Given the description of an element on the screen output the (x, y) to click on. 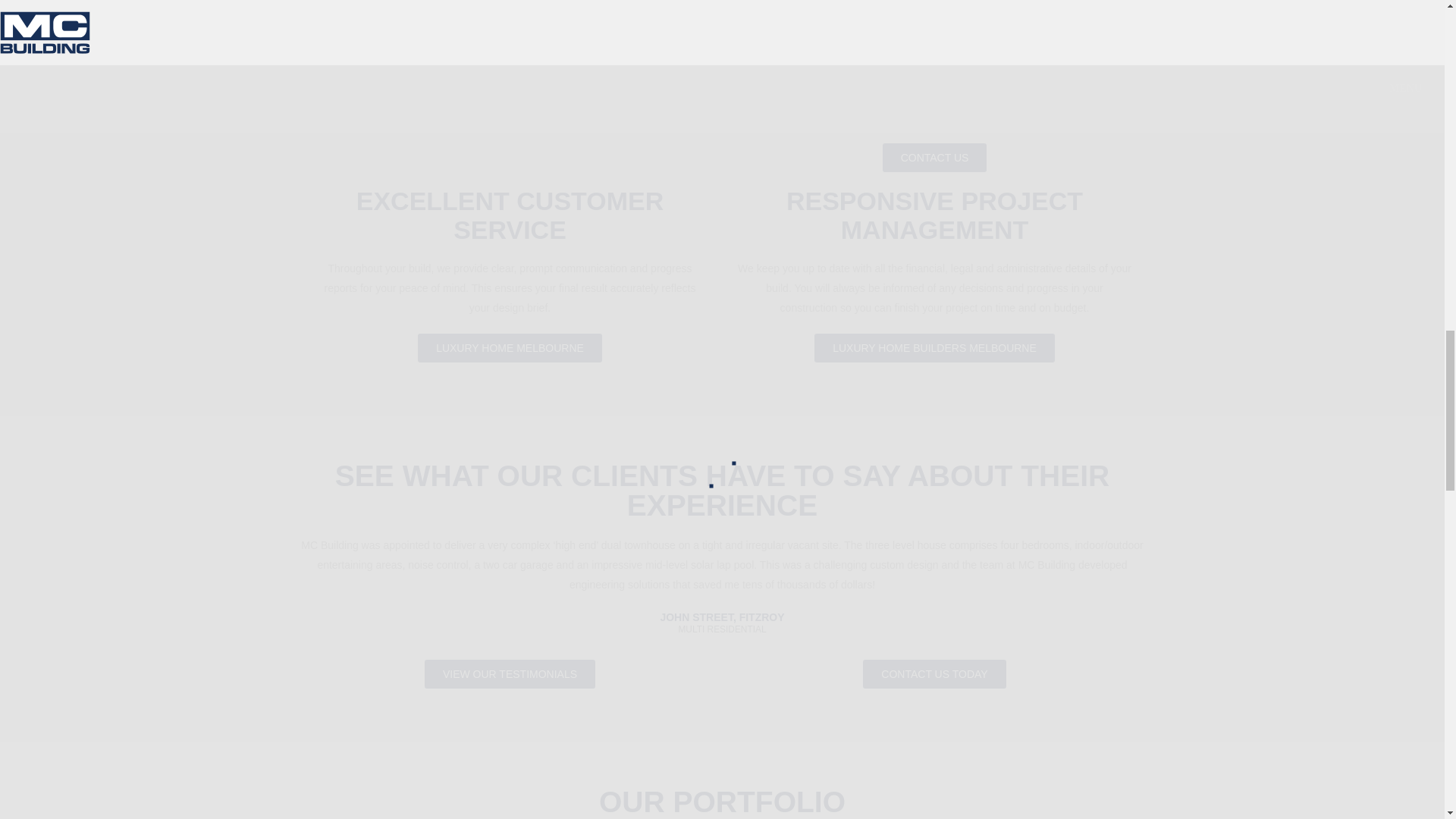
CONTACT US TODAY (934, 674)
VIEW OUR TESTIMONIALS (510, 674)
CONTACT US (934, 157)
LUXURY HOME MELBOURNE (509, 347)
VIEW OUR PORTFOLIO (509, 109)
LUXURY HOME BUILDERS MELBOURNE (933, 347)
